Given the description of an element on the screen output the (x, y) to click on. 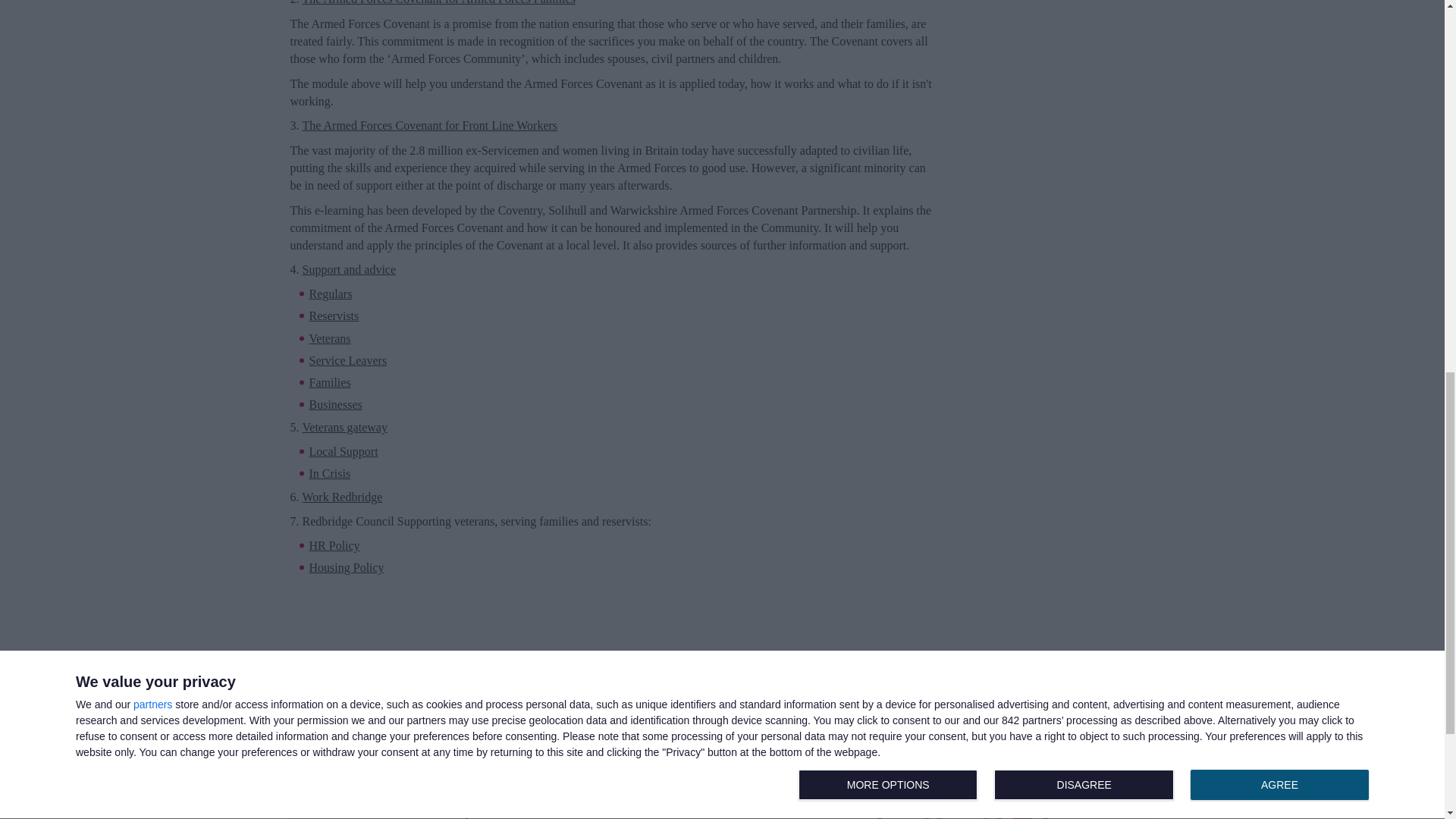
Reservists (333, 315)
Service leavers (347, 359)
Regulars (330, 293)
Veterans (329, 338)
Housing Policy (346, 567)
Veterans (329, 338)
In Crisis (329, 473)
Veterans gateway (344, 427)
Support and advice (348, 270)
HR Policy (333, 545)
Reservists (333, 315)
Work Redbridge (341, 497)
Families (329, 382)
Share your feedback (721, 795)
Regulars (330, 293)
